Given the description of an element on the screen output the (x, y) to click on. 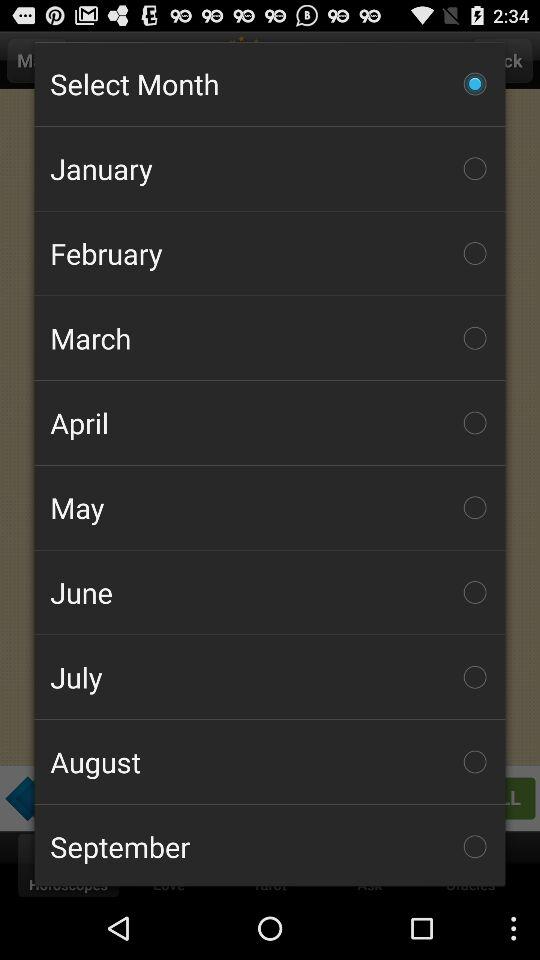
click icon above the september (269, 761)
